Given the description of an element on the screen output the (x, y) to click on. 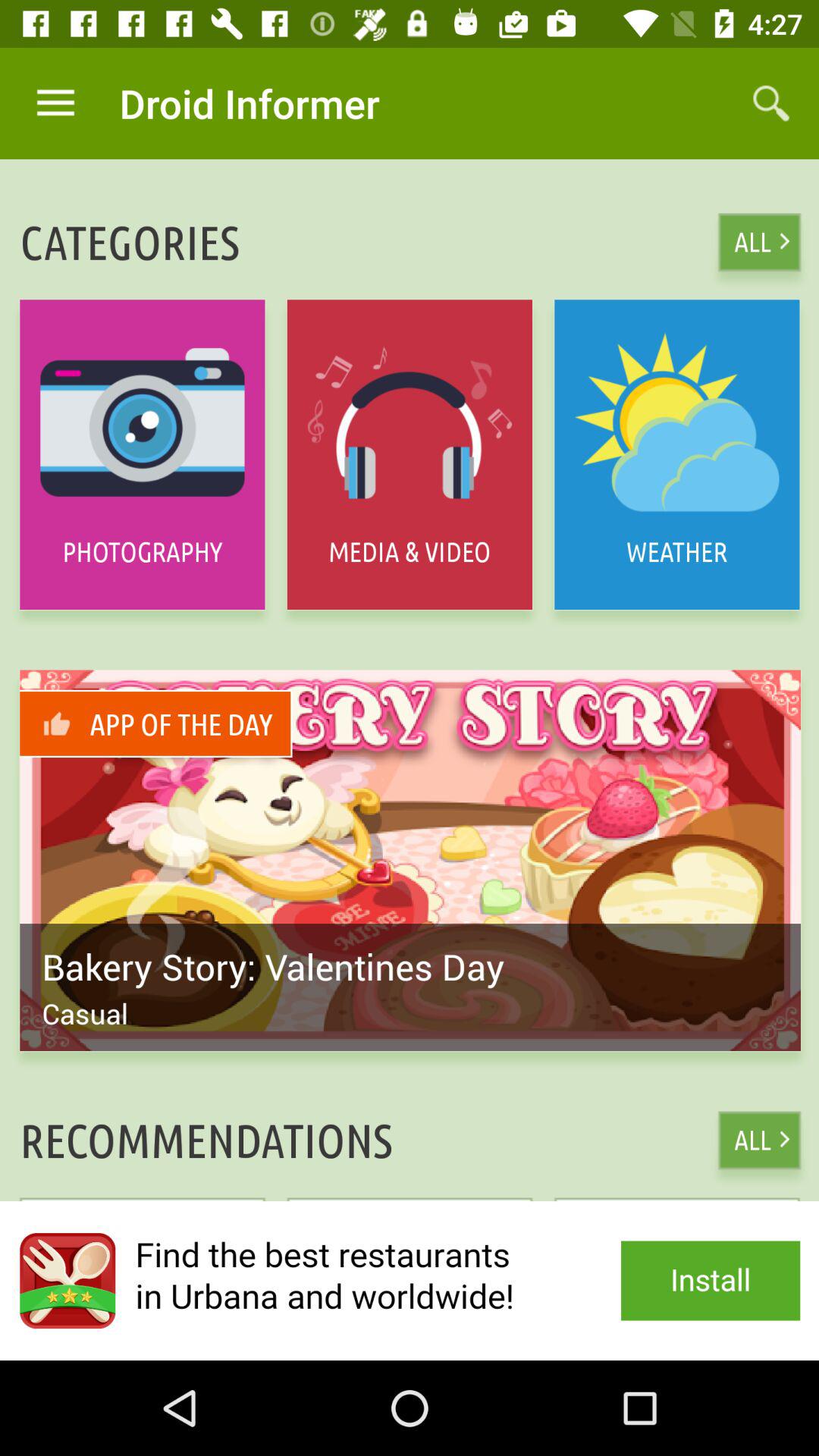
advertisement (409, 1280)
